Given the description of an element on the screen output the (x, y) to click on. 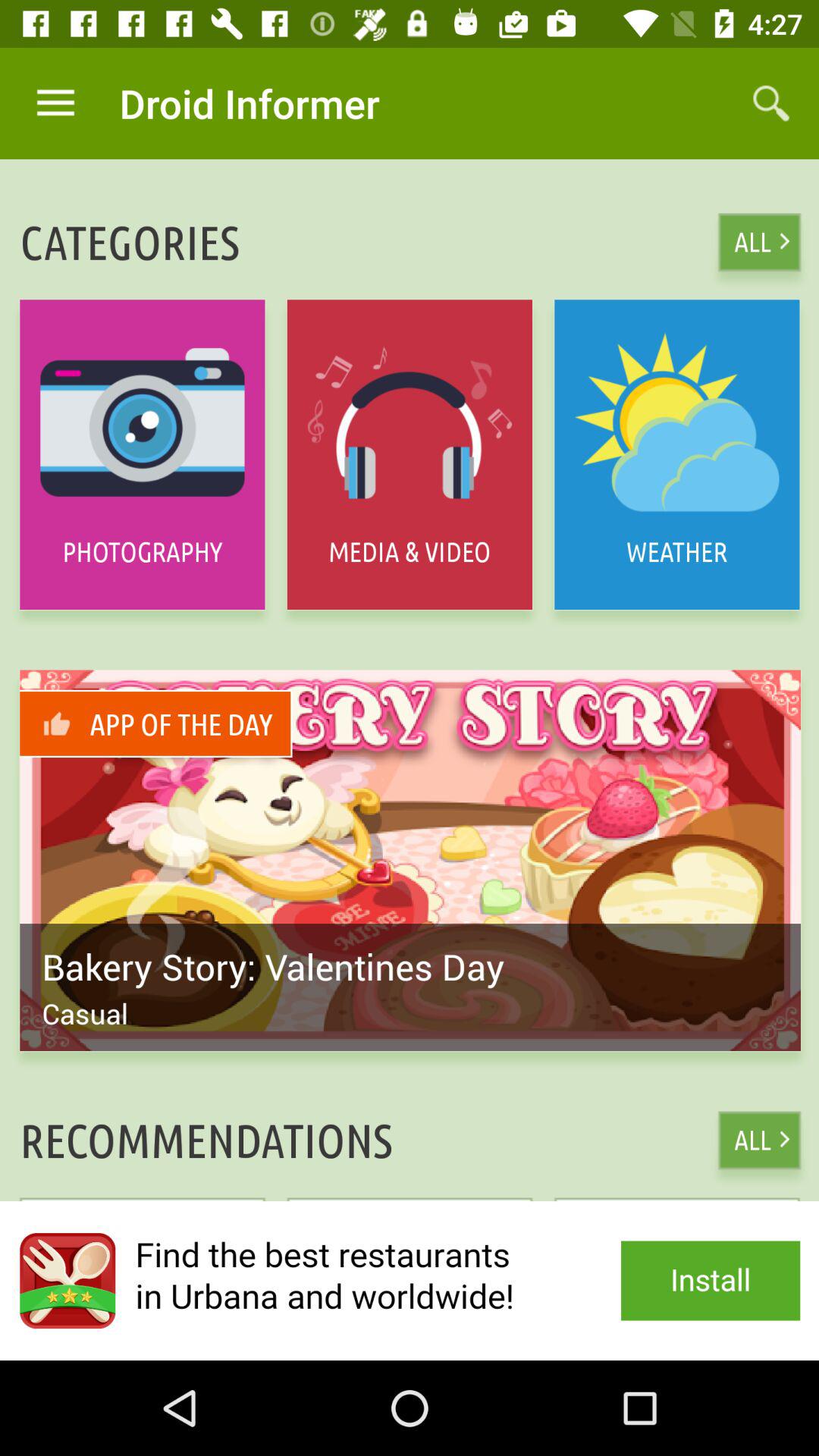
advertisement (409, 1280)
